Given the description of an element on the screen output the (x, y) to click on. 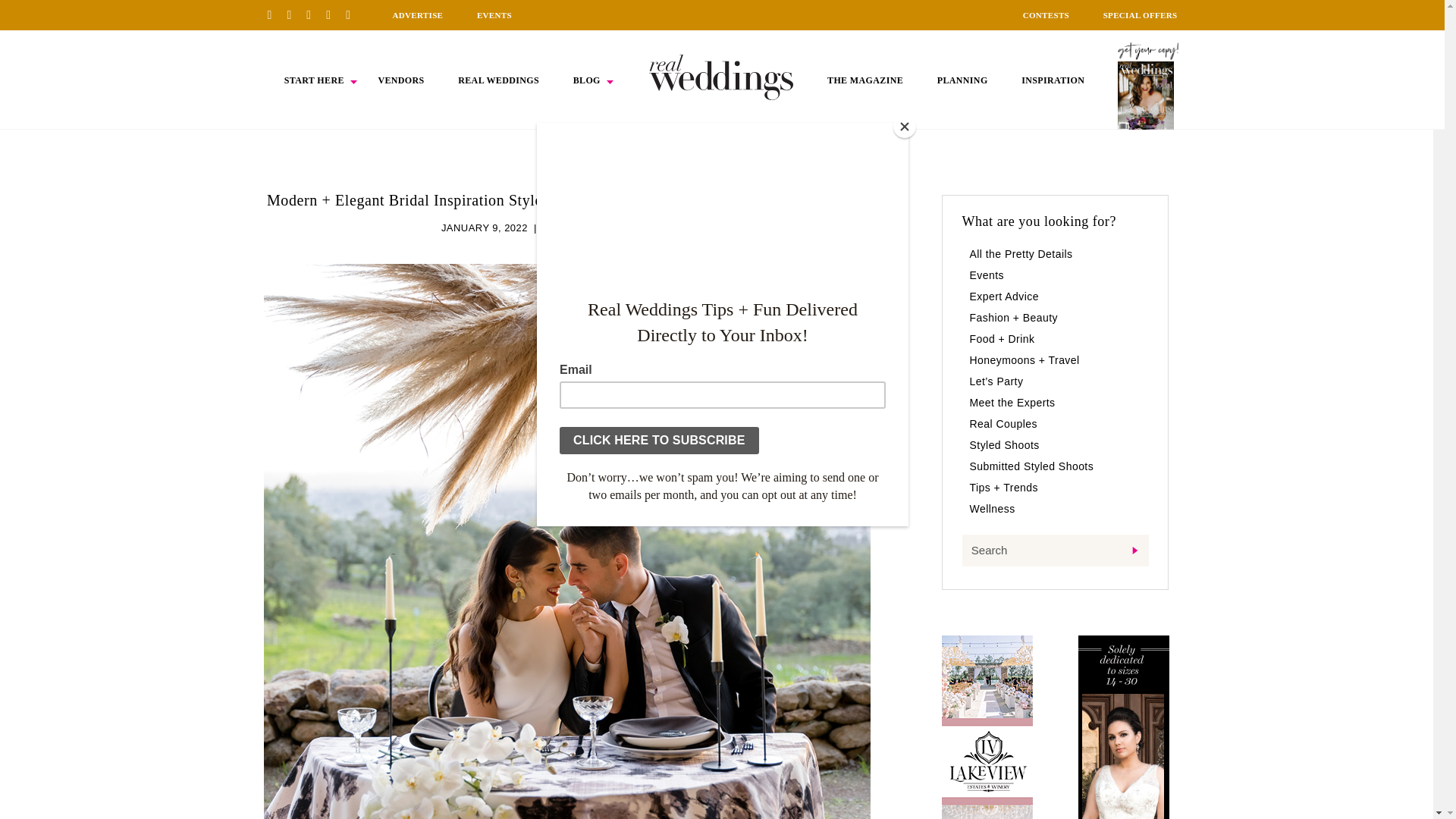
SPECIAL OFFERS (1140, 14)
START HERE (313, 80)
Search (1054, 550)
ADVERTISE (416, 14)
Twitter (334, 14)
PLANNING (962, 80)
HOME (721, 76)
EVENTS (494, 14)
THE MAGAZINE (864, 80)
Pinterest (274, 14)
REAL WEDDINGS (498, 80)
CONTESTS (1045, 14)
YouTube (353, 14)
Search (1054, 550)
VENDORS (400, 80)
